Given the description of an element on the screen output the (x, y) to click on. 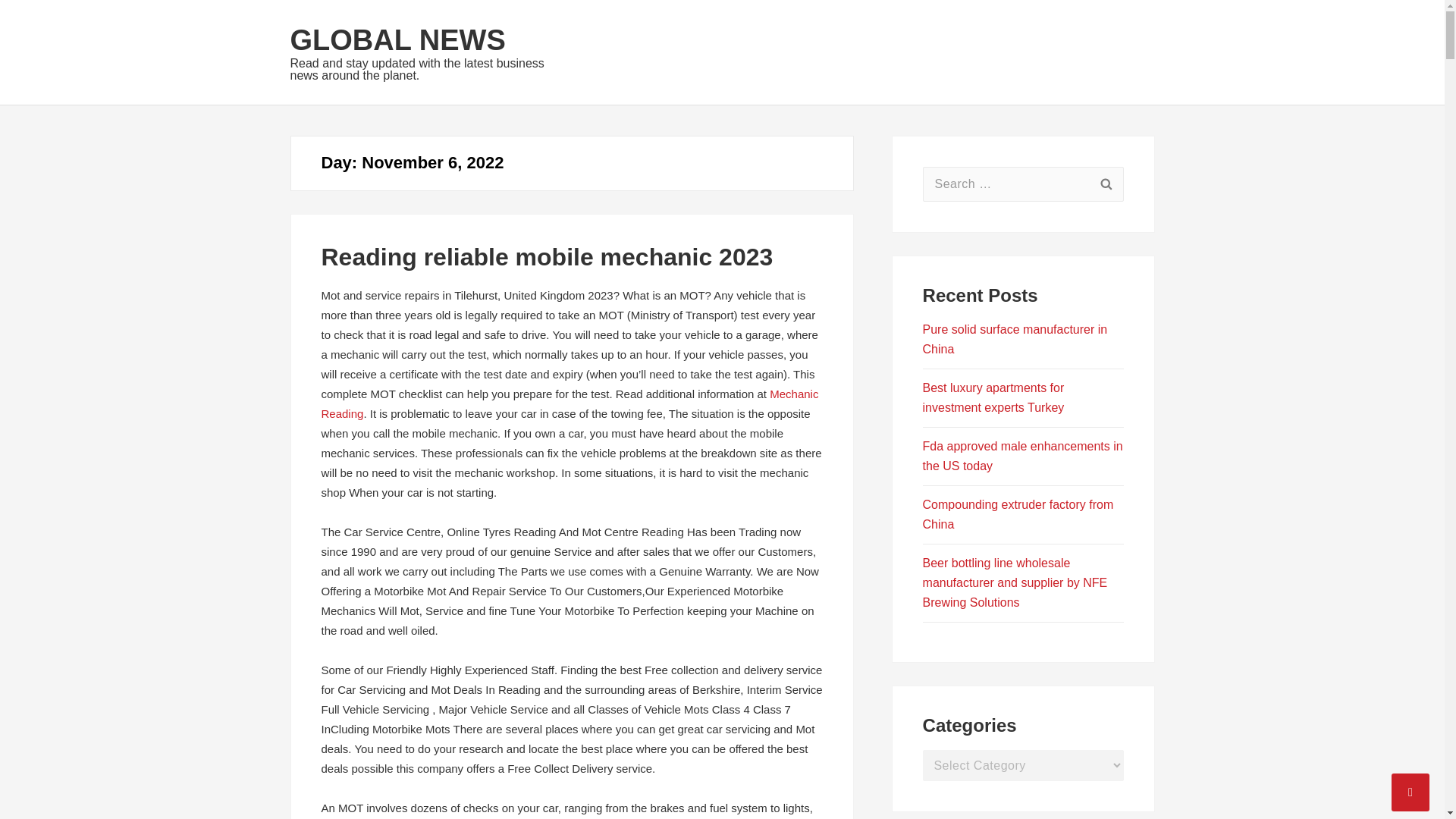
Search (1106, 184)
Search (1106, 184)
Best luxury apartments for investment experts Turkey (993, 397)
Search (1106, 184)
Pure solid surface manufacturer in China (1015, 338)
Mechanic Reading (569, 403)
GLOBAL NEWS (397, 40)
Reading reliable mobile mechanic 2023 (547, 257)
